Given the description of an element on the screen output the (x, y) to click on. 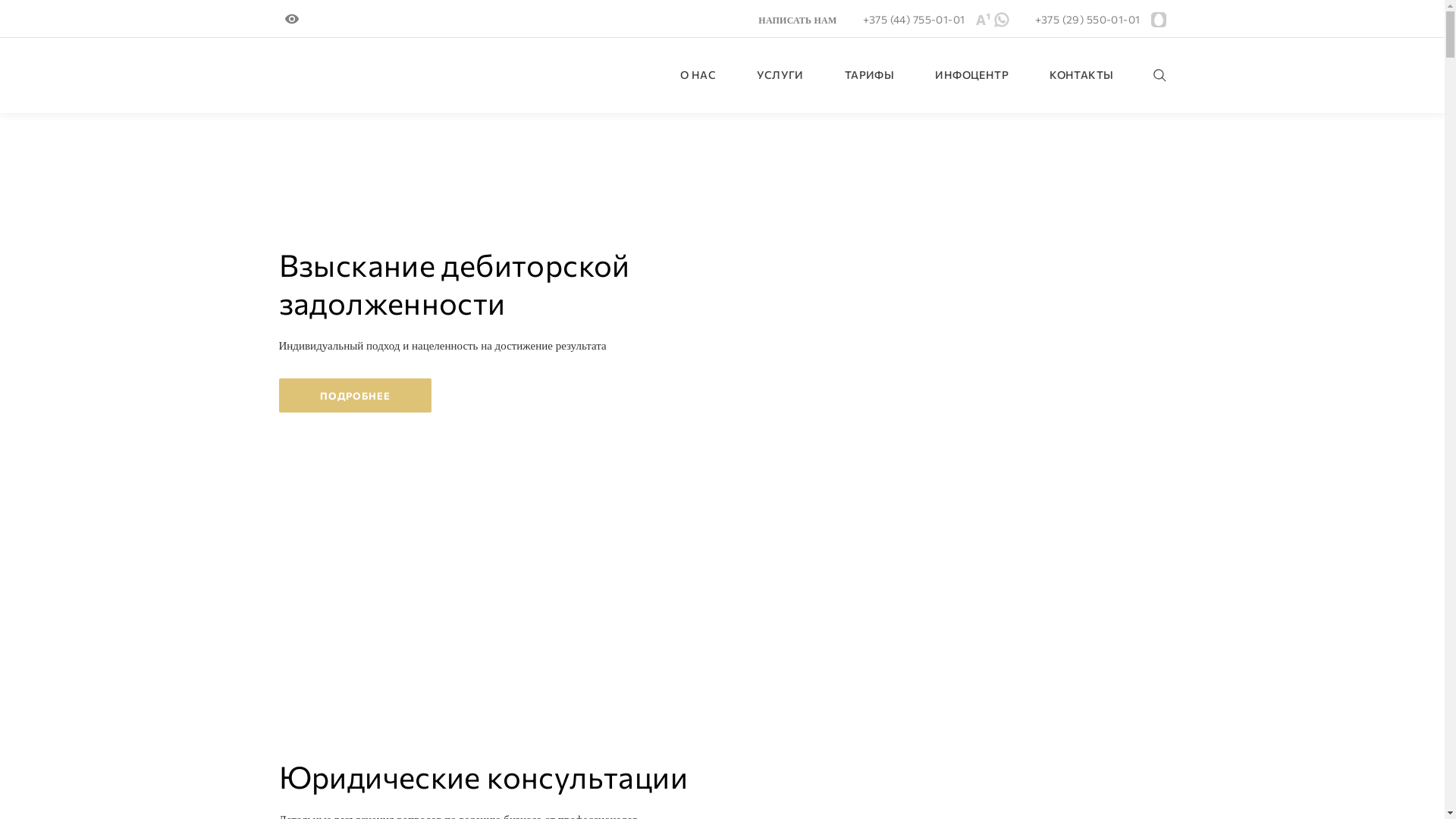
+375 (29) 550-01-01 Element type: text (1087, 19)
+375 (44) 755-01-01 Element type: text (913, 19)
